Given the description of an element on the screen output the (x, y) to click on. 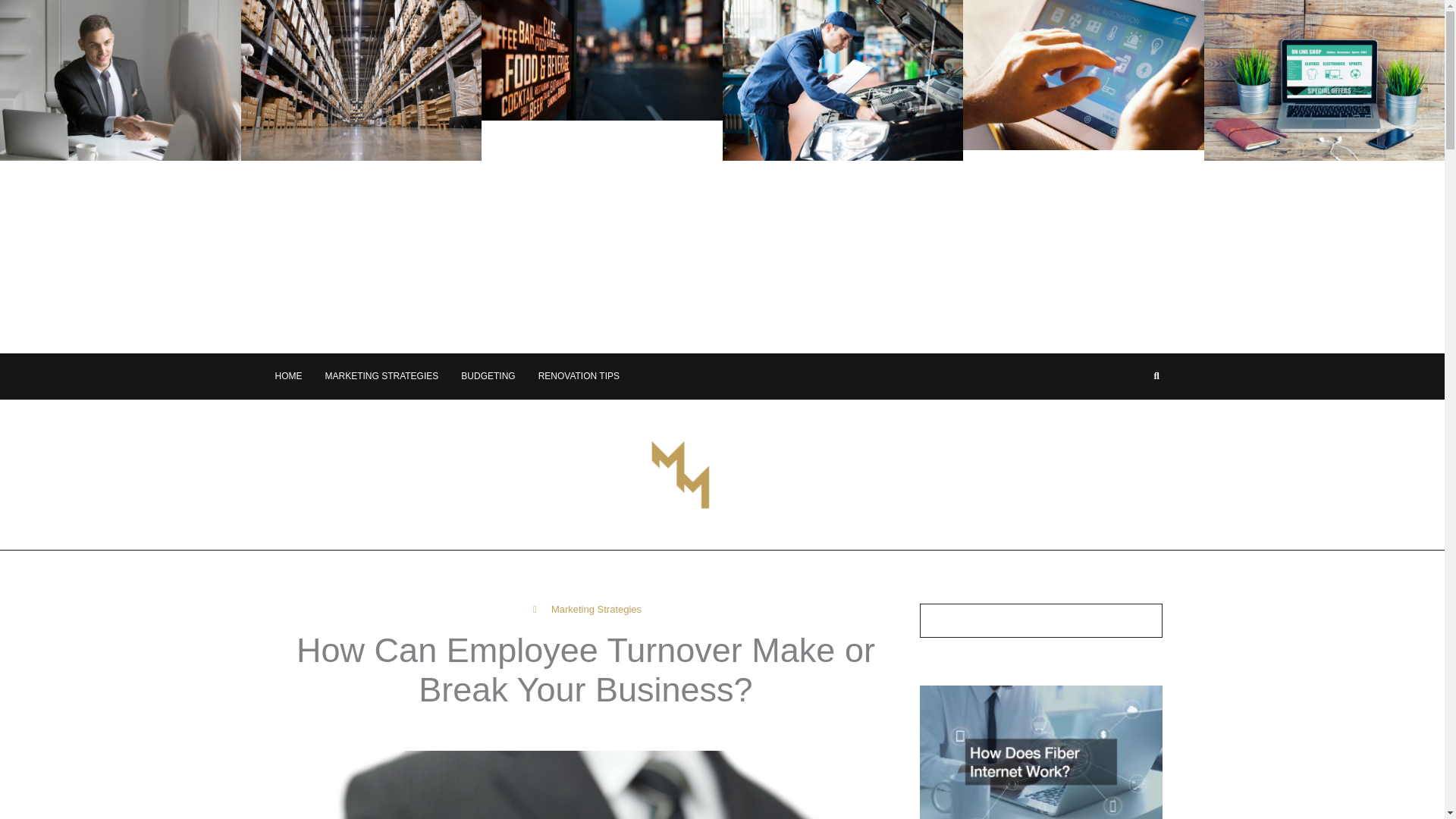
RENOVATION TIPS (579, 376)
Marketing Strategies (596, 609)
November 5, 2022 (667, 729)
Alex "TechWhiz" Merrimack (523, 729)
Search (1143, 620)
BUDGETING (488, 376)
HOME (288, 376)
MARKETING STRATEGIES (381, 376)
